Given the description of an element on the screen output the (x, y) to click on. 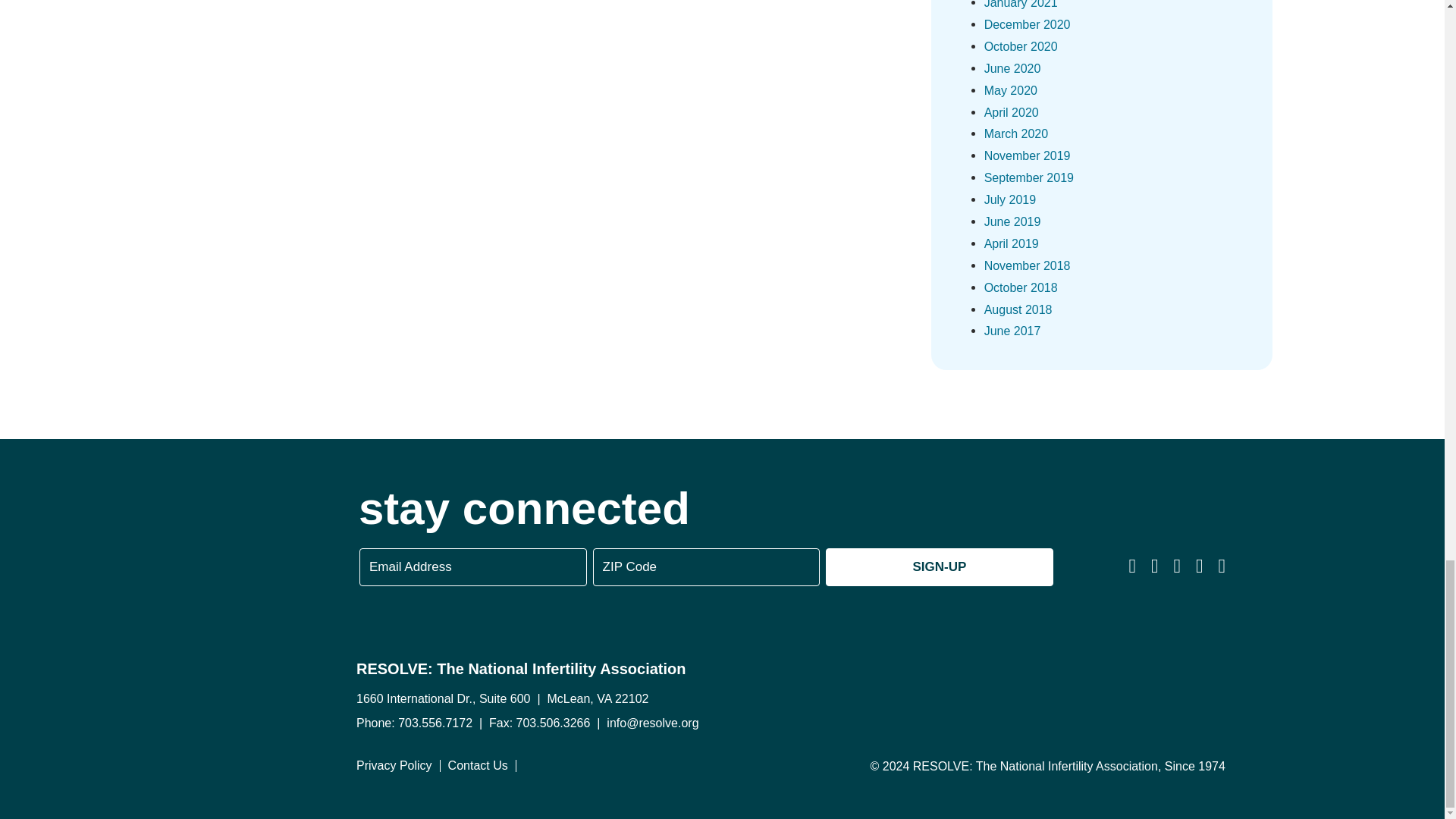
SIGN-UP (938, 566)
7235119 (908, 688)
Icon Large (166, 560)
NHC SOE Cmyk (1102, 689)
